Given the description of an element on the screen output the (x, y) to click on. 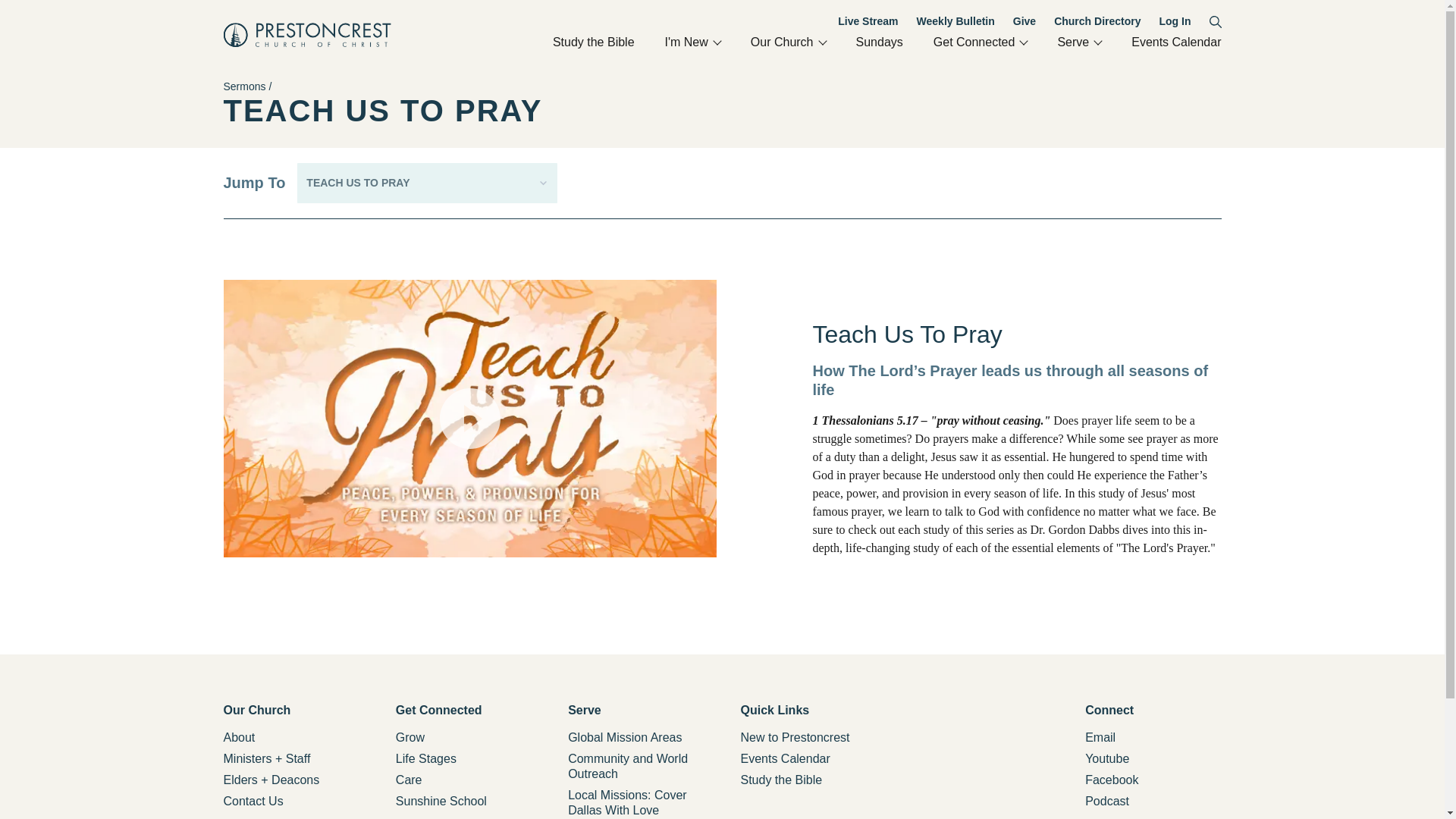
show I'm New submenu (716, 39)
Weekly Bulletin (955, 21)
Church Directory (1097, 21)
Show I'm New submenu (716, 39)
show Get Connected submenu (788, 42)
Search (1023, 39)
show Our Church submenu (692, 42)
Skip to main content (1214, 21)
Show Our Church submenu (821, 39)
Log In (821, 39)
Study the Bible (1097, 39)
